Given the description of an element on the screen output the (x, y) to click on. 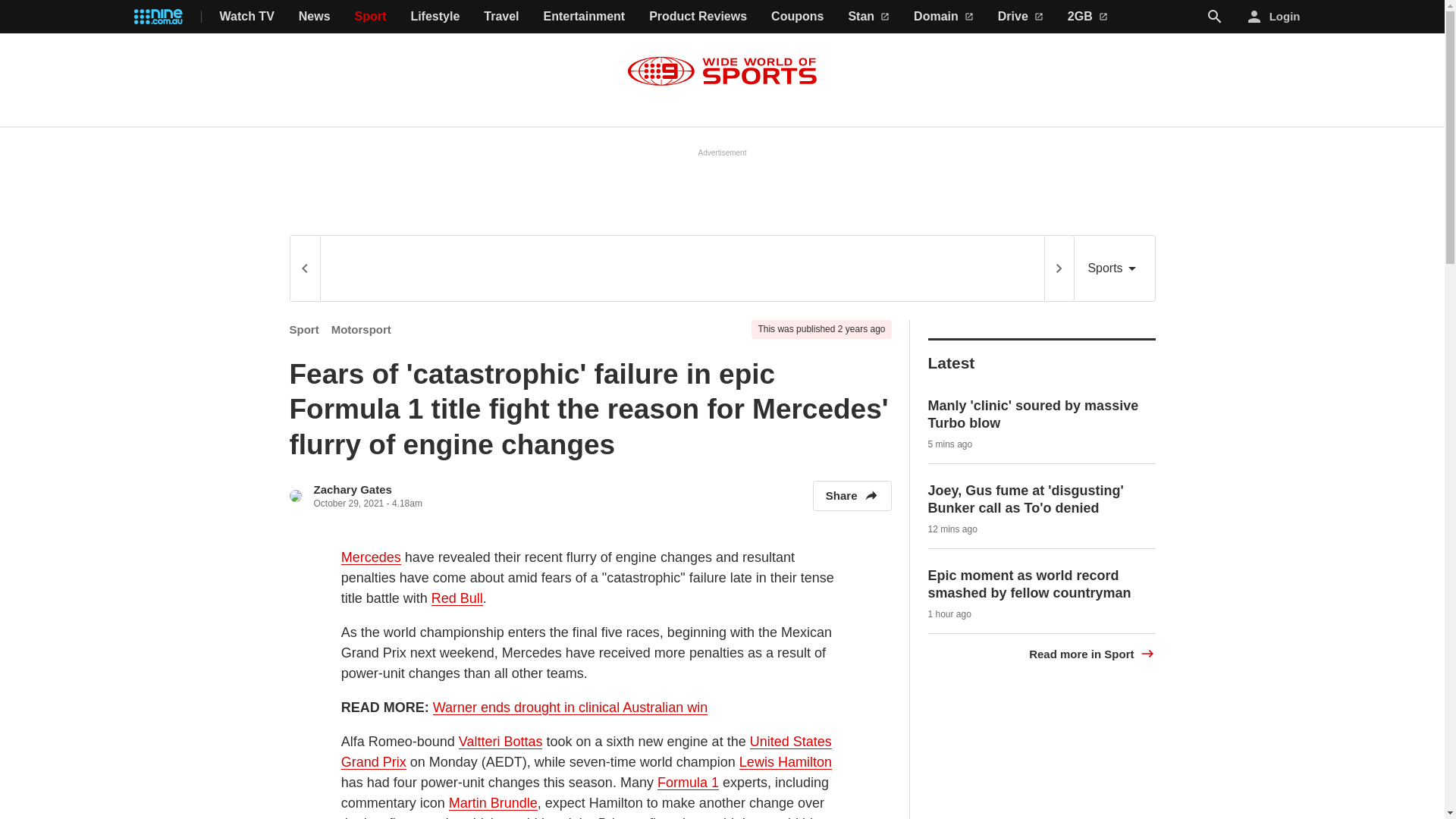
Lifestyle (435, 16)
Entertainment (584, 16)
Travel (500, 16)
Zachary Gates (352, 489)
Watch TV (247, 16)
Warner ends drought in clinical Australian win (569, 707)
News (314, 16)
Sport (303, 328)
Sports (1114, 268)
Search (1214, 16)
